Given the description of an element on the screen output the (x, y) to click on. 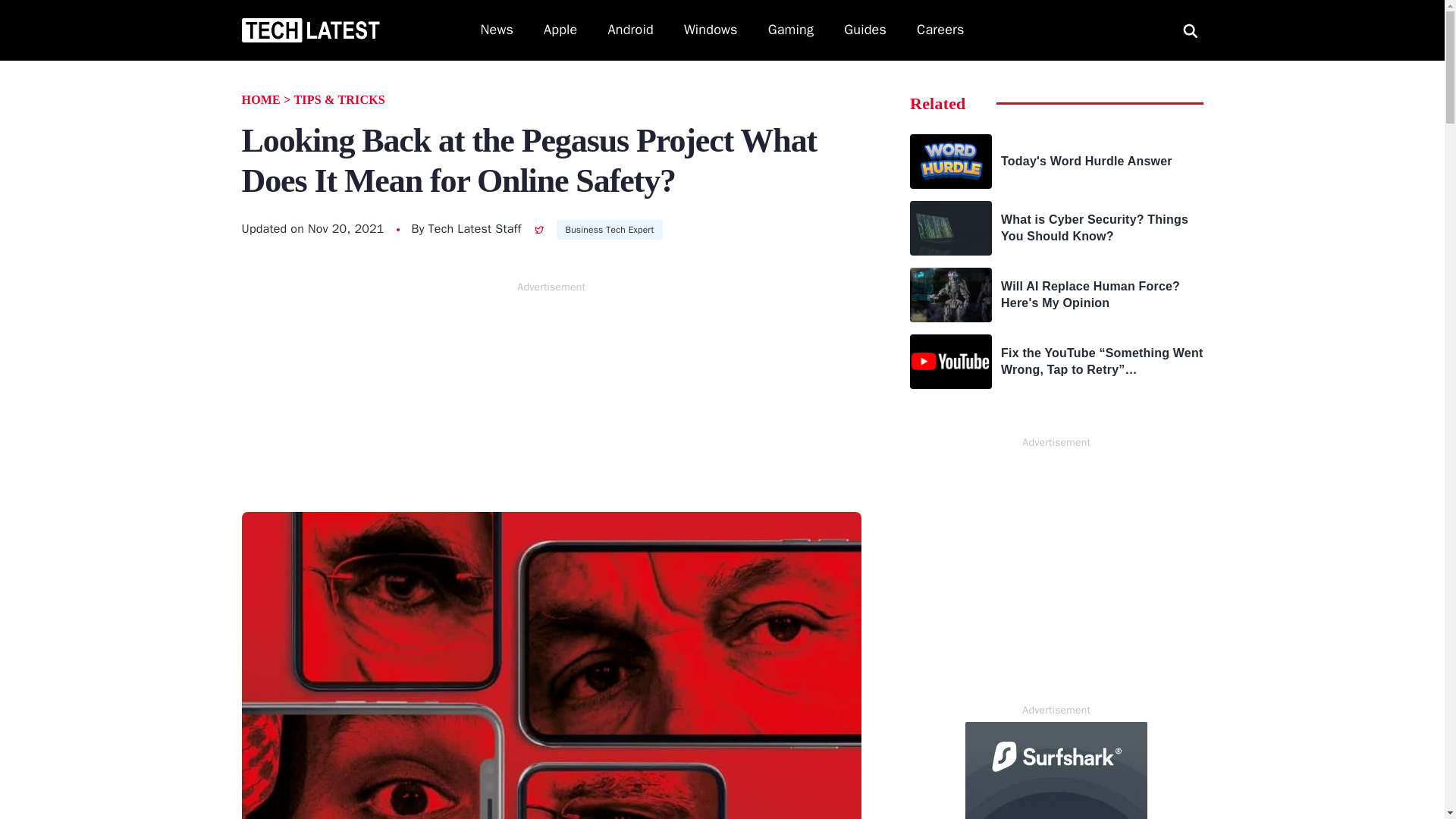
Gaming (790, 30)
Android (630, 30)
HOME (260, 99)
Windows (711, 30)
News (496, 30)
Guides (865, 30)
Apple (560, 30)
Tech Latest Staff (474, 228)
Search for: (1189, 29)
Careers (940, 30)
